Given the description of an element on the screen output the (x, y) to click on. 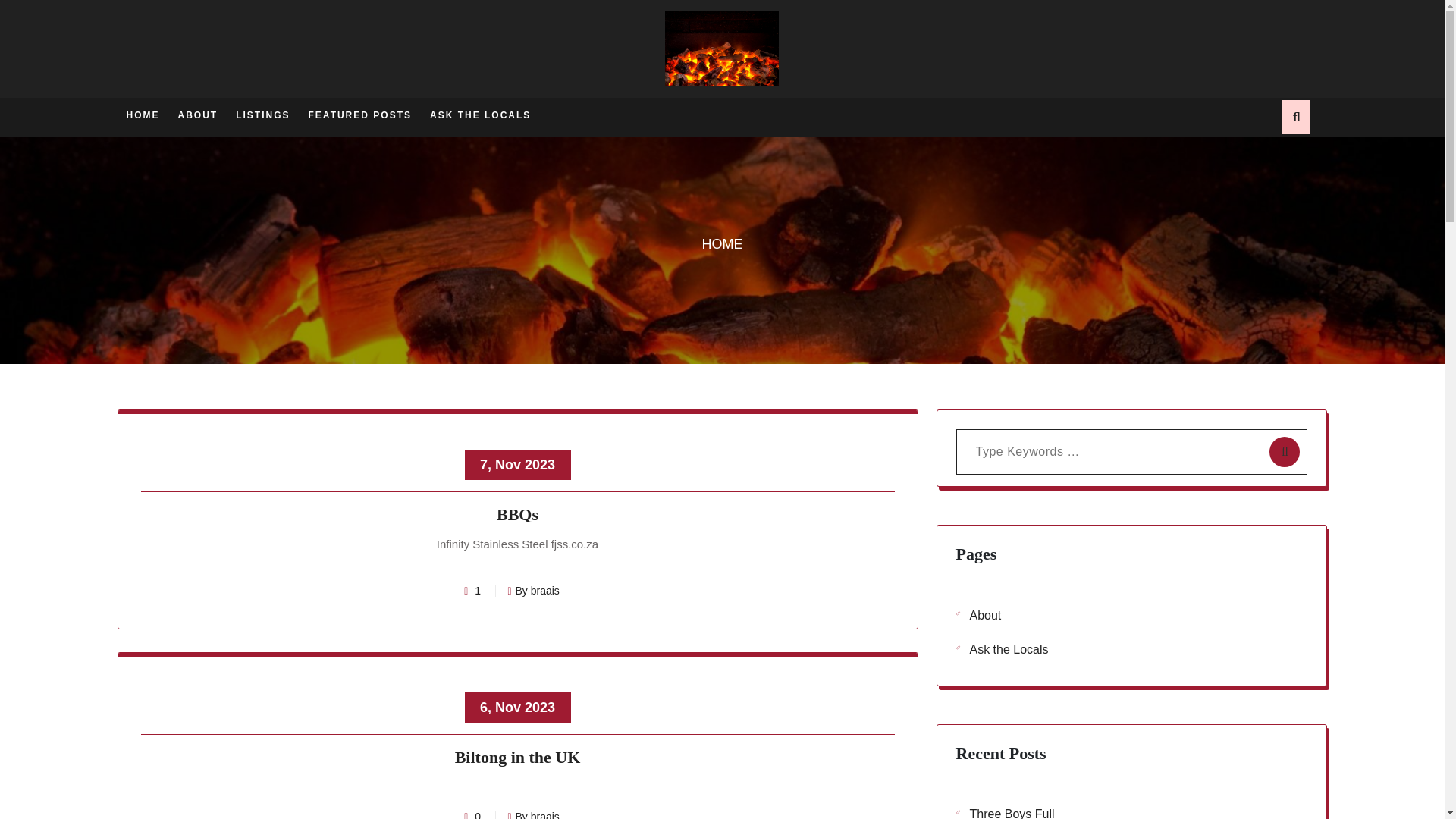
By braais (532, 814)
Search (1105, 76)
BBQs (518, 517)
Biltong in the UK (518, 760)
ASK THE LOCALS (480, 114)
By braais (532, 590)
HOME (141, 114)
ABOUT (196, 114)
LISTINGS (262, 114)
0 (478, 814)
